Given the description of an element on the screen output the (x, y) to click on. 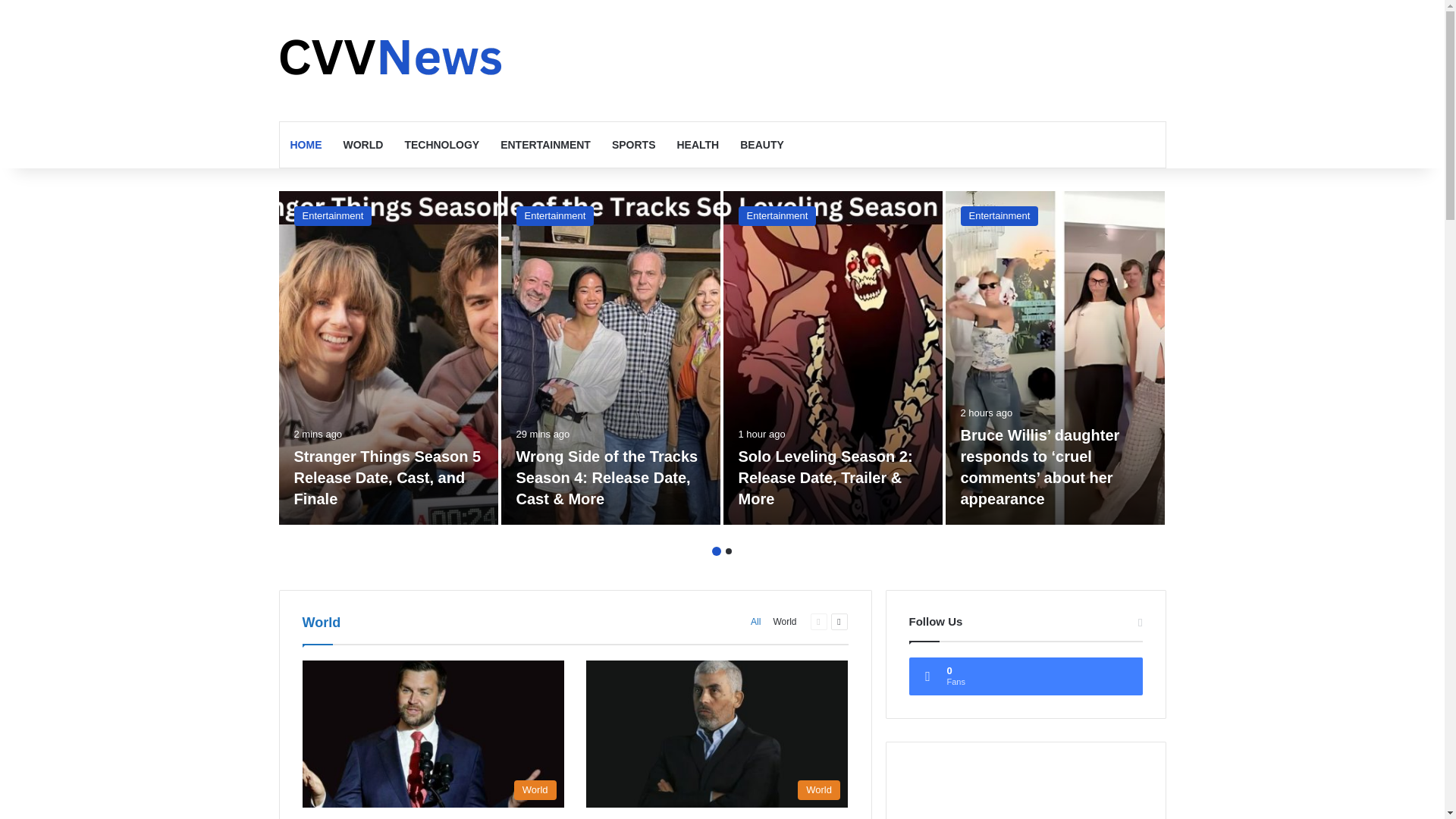
WORLD (362, 144)
BEAUTY (761, 144)
Entertainment (554, 216)
HEALTH (697, 144)
TECHNOLOGY (441, 144)
HOME (305, 144)
ENTERTAINMENT (545, 144)
Entertainment (777, 216)
CVVNews (392, 60)
Entertainment (333, 216)
